Given the description of an element on the screen output the (x, y) to click on. 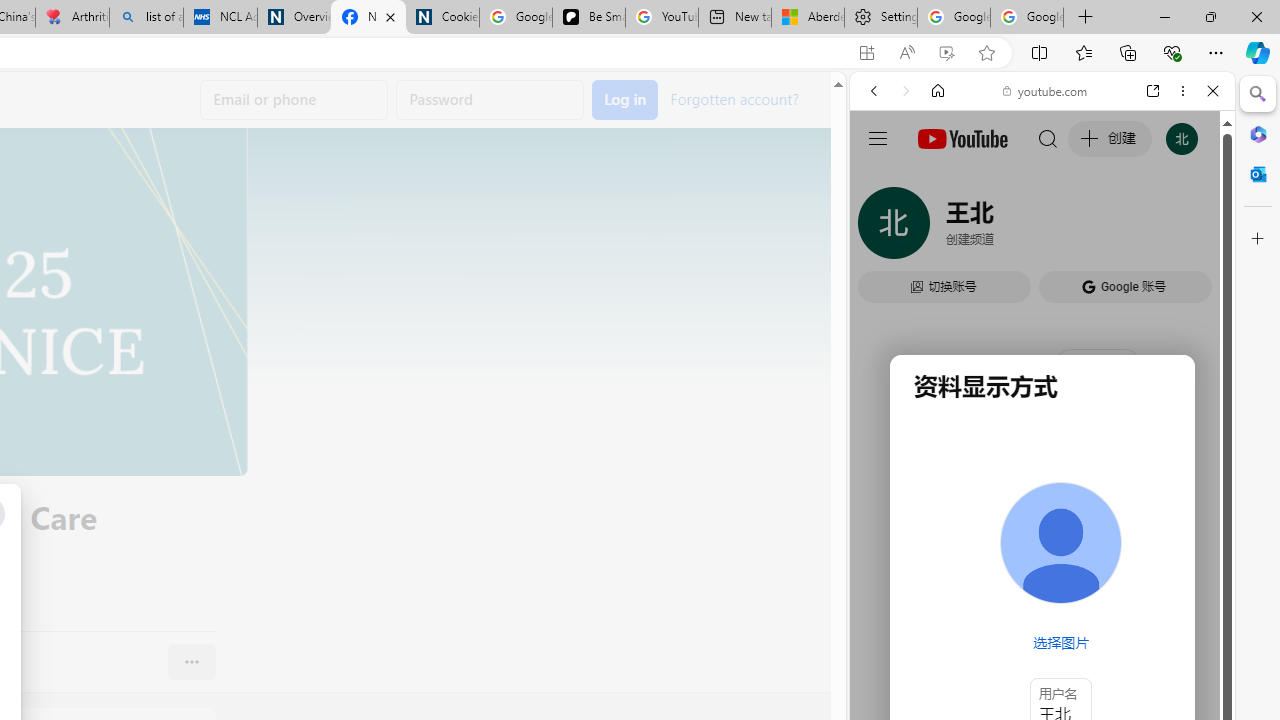
Email or phone (294, 99)
Password (489, 99)
